Given the description of an element on the screen output the (x, y) to click on. 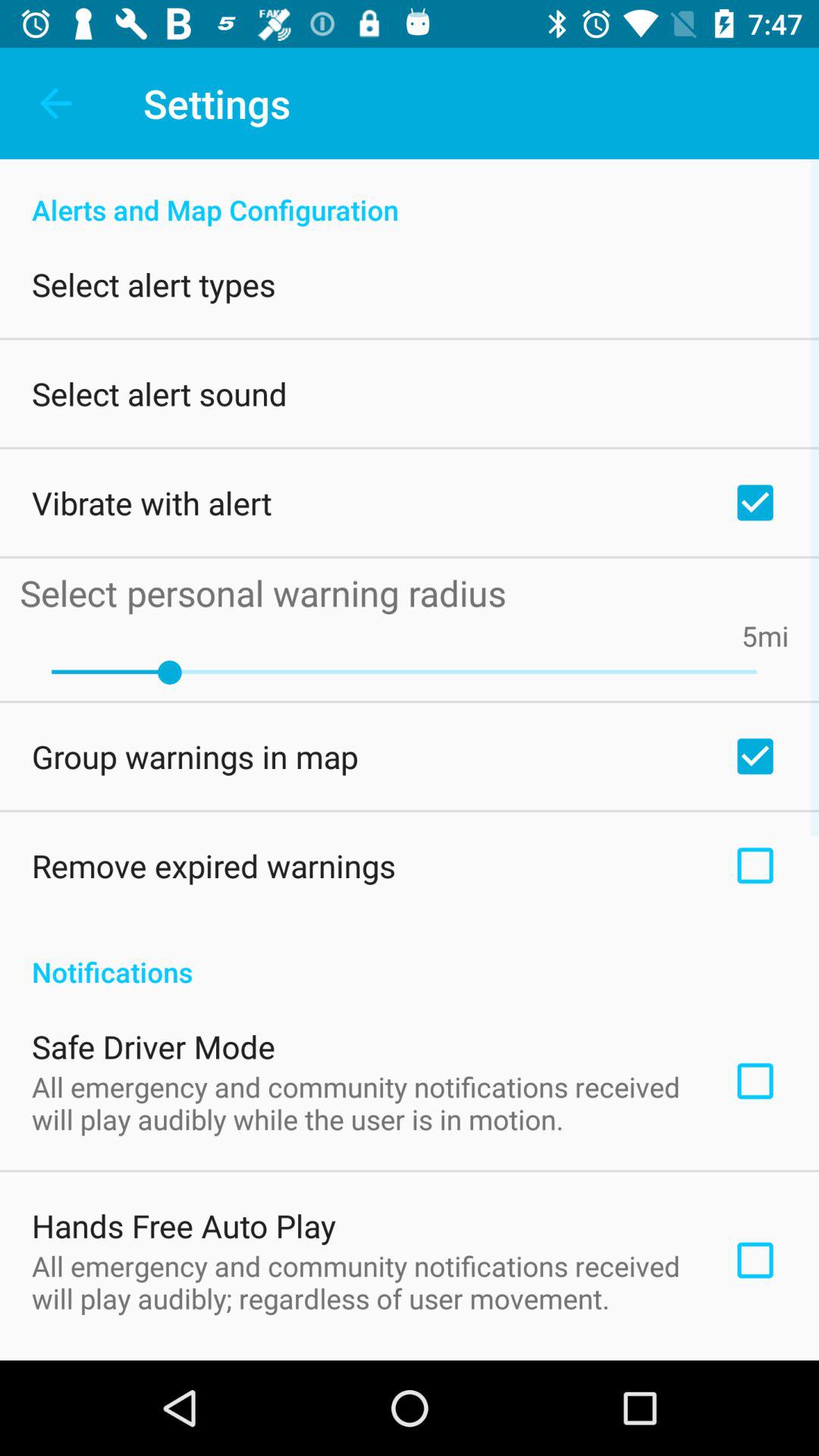
turn on app above the all emergency and (153, 1046)
